Given the description of an element on the screen output the (x, y) to click on. 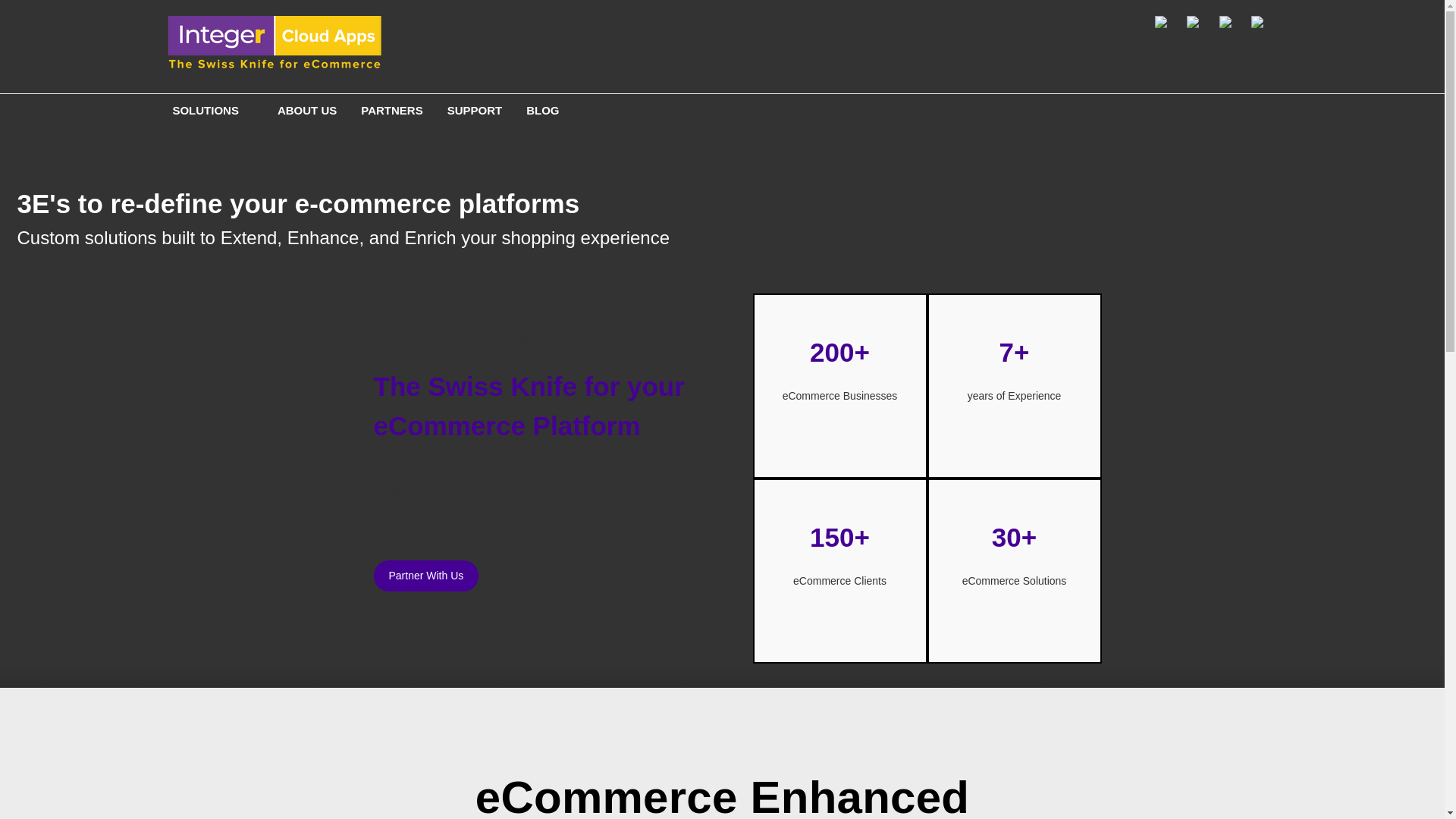
BLOG (541, 112)
PriyankaStore (274, 46)
SUPPORT (475, 112)
PARTNERS (391, 112)
SOLUTIONS (212, 112)
ABOUT US (306, 112)
Partner With Us (425, 575)
